Given the description of an element on the screen output the (x, y) to click on. 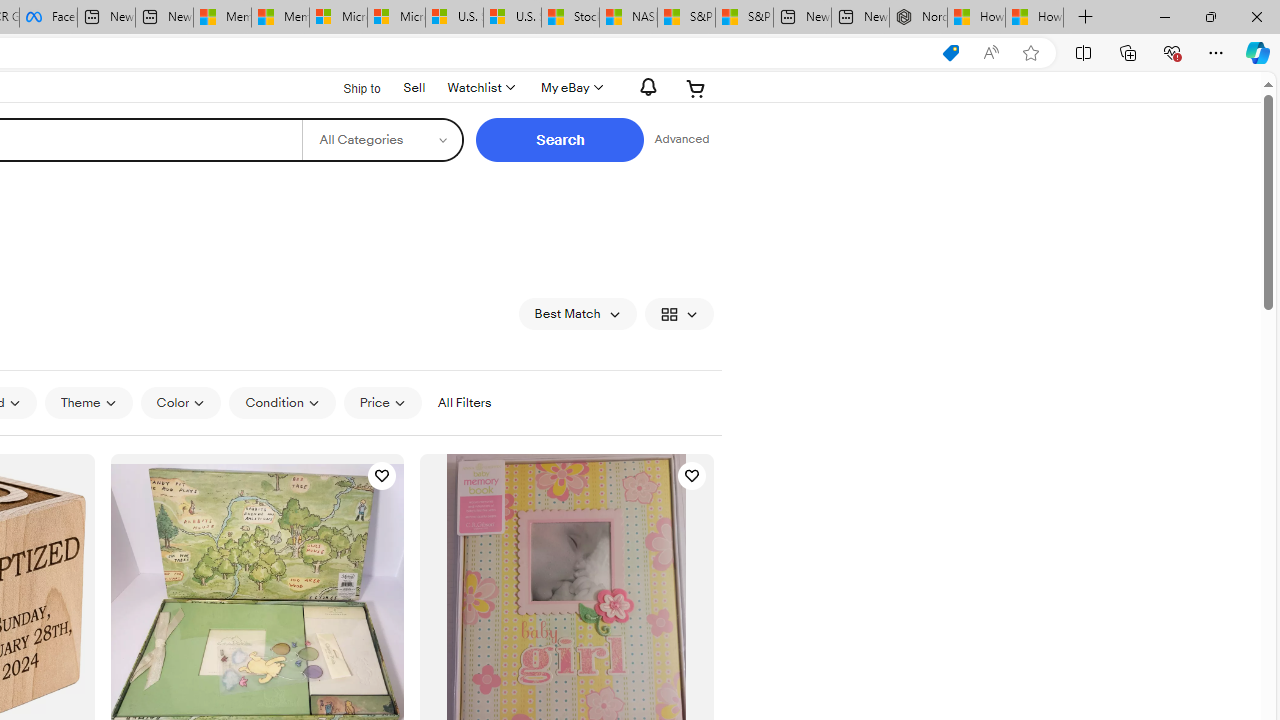
Sell (414, 87)
Advanced Search (681, 139)
AutomationID: gh-eb-Alerts (645, 87)
Theme (88, 403)
Settings and more (Alt+F) (1215, 52)
This site has coupons! Shopping in Microsoft Edge (950, 53)
